Given the description of an element on the screen output the (x, y) to click on. 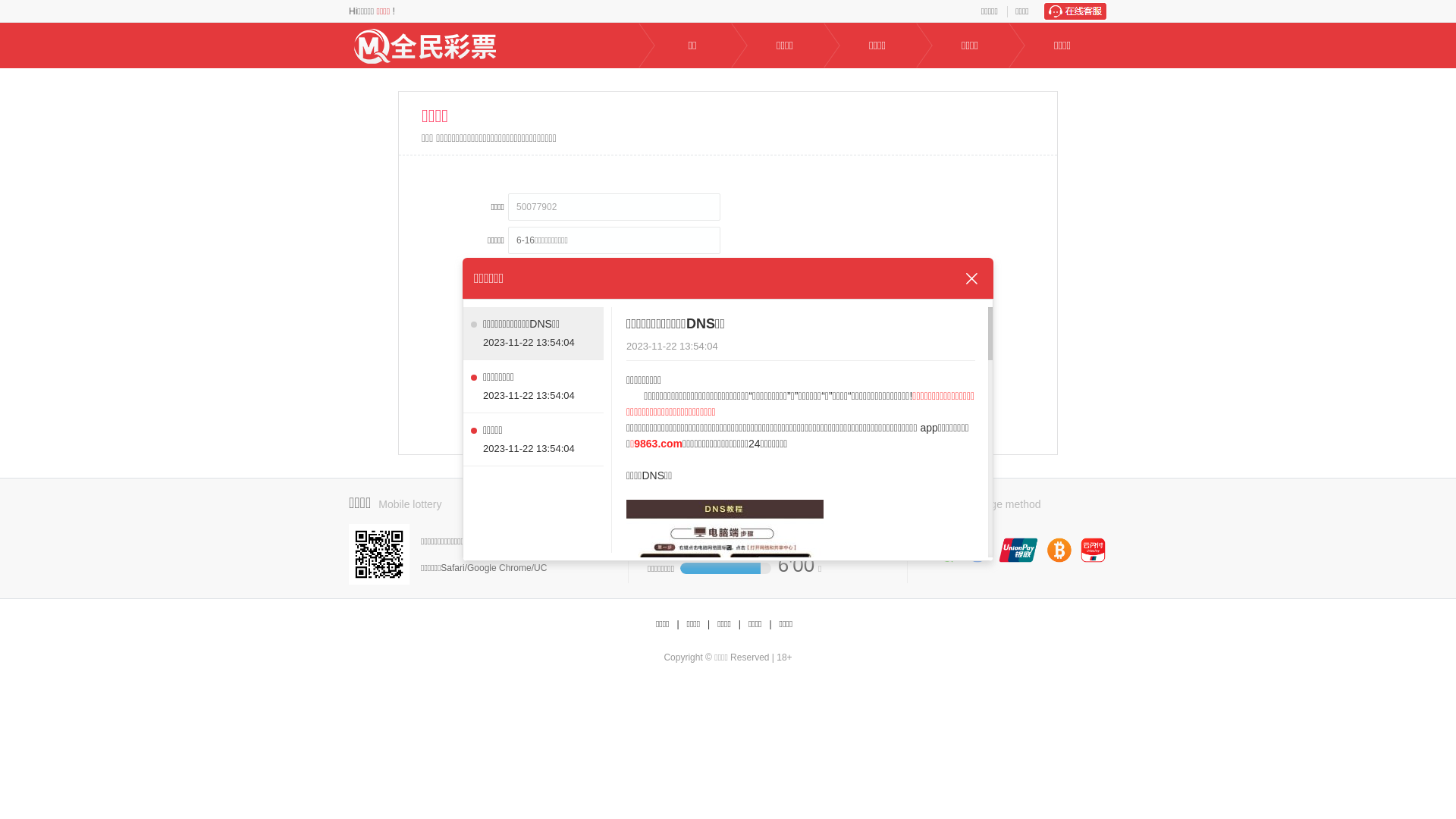
| Element type: text (677, 624)
| Element type: text (739, 624)
| Element type: text (769, 624)
| Element type: text (708, 624)
